Given the description of an element on the screen output the (x, y) to click on. 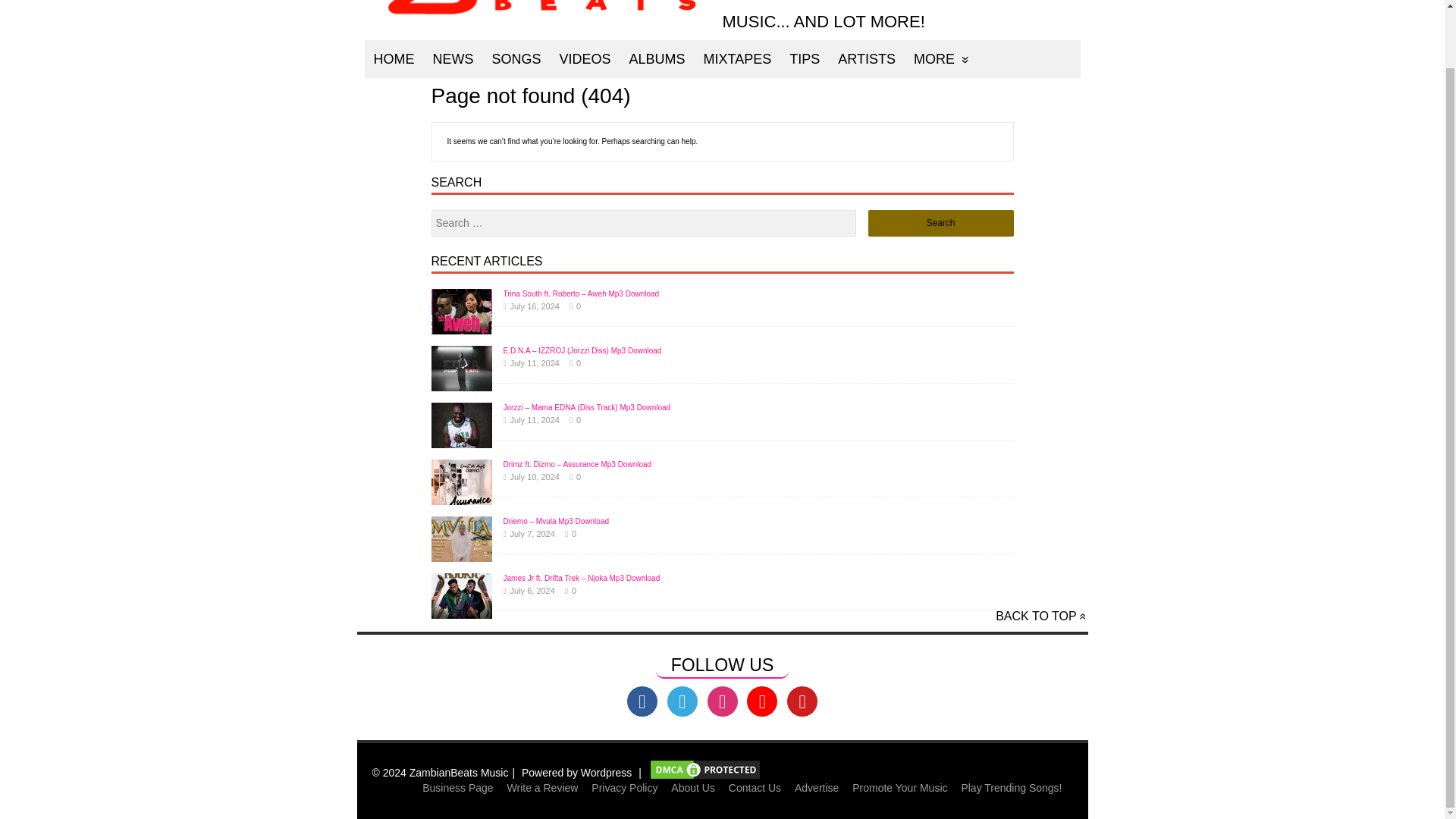
ARTISTS (866, 58)
instagram (721, 701)
MIXTAPES (737, 58)
MORE (941, 58)
TIPS (804, 58)
Search (940, 222)
ALBUMS (657, 58)
SONGS (515, 58)
twitter (681, 701)
HOME (393, 58)
facebook (642, 701)
Search (940, 222)
VIDEOS (585, 58)
Search (940, 222)
NEWS (452, 58)
